Given the description of an element on the screen output the (x, y) to click on. 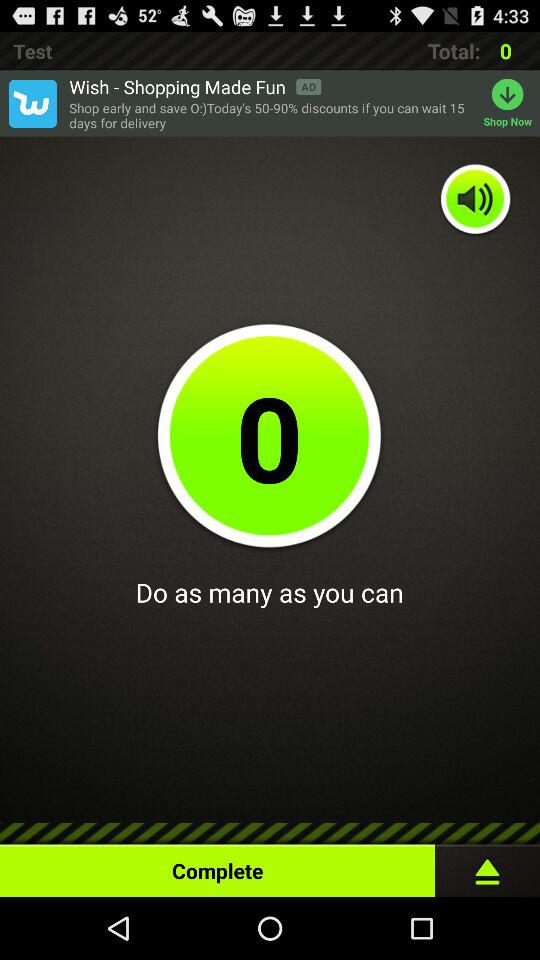
open the advertisement (32, 103)
